Given the description of an element on the screen output the (x, y) to click on. 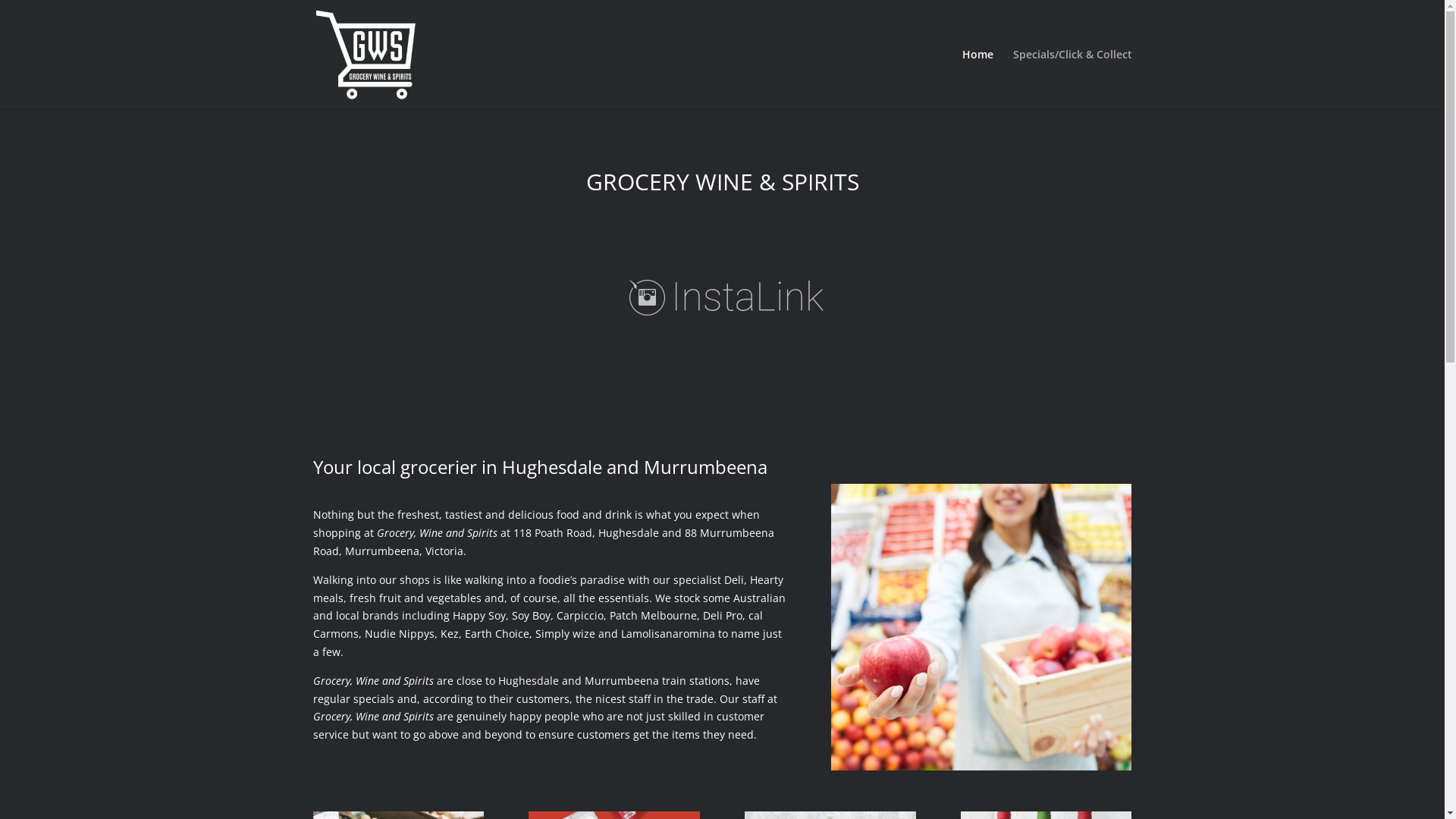
Specials/Click & Collect Element type: text (1072, 79)
Home Element type: text (976, 79)
